Given the description of an element on the screen output the (x, y) to click on. 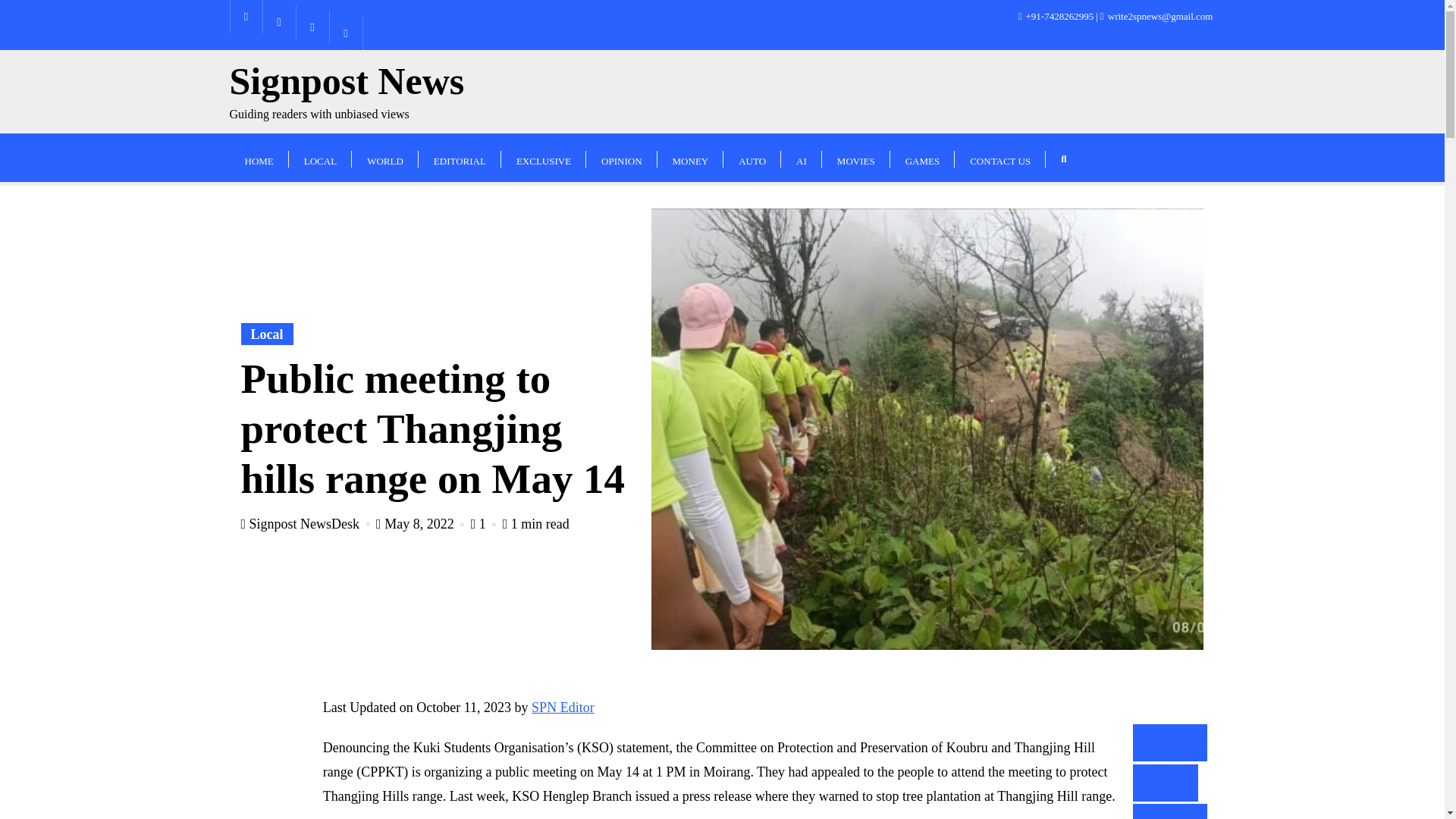
SPN Editor (562, 707)
EXCLUSIVE (543, 156)
MOVIES (346, 91)
Local (855, 156)
1 min read (267, 333)
1 (535, 523)
EDITORIAL (484, 523)
AUTO (459, 156)
MONEY (751, 156)
